Given the description of an element on the screen output the (x, y) to click on. 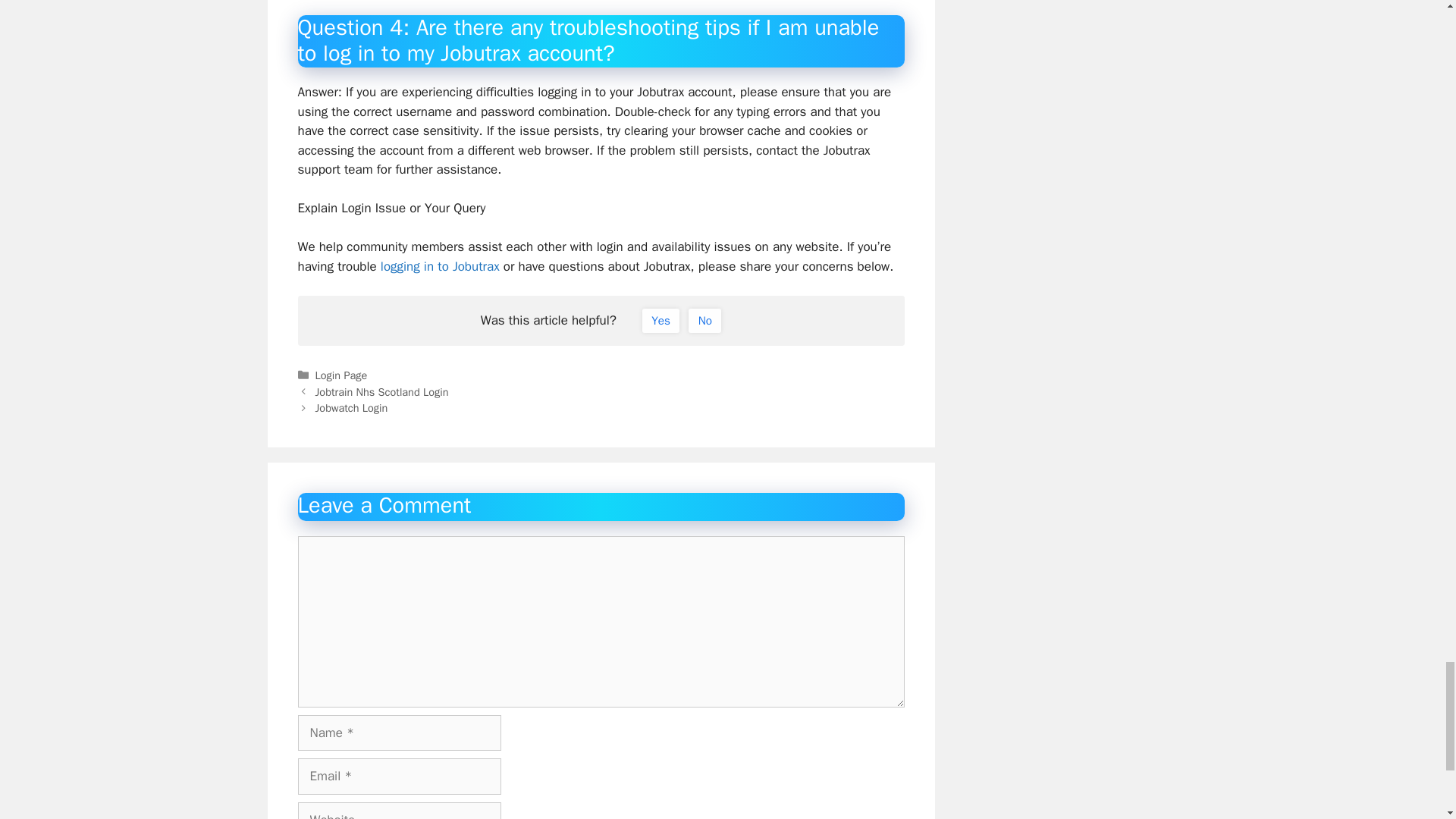
logging in to Jobutrax (439, 266)
Jobwatch Login (351, 407)
Login Page (341, 375)
Jobtrain Nhs Scotland Login (381, 391)
